Given the description of an element on the screen output the (x, y) to click on. 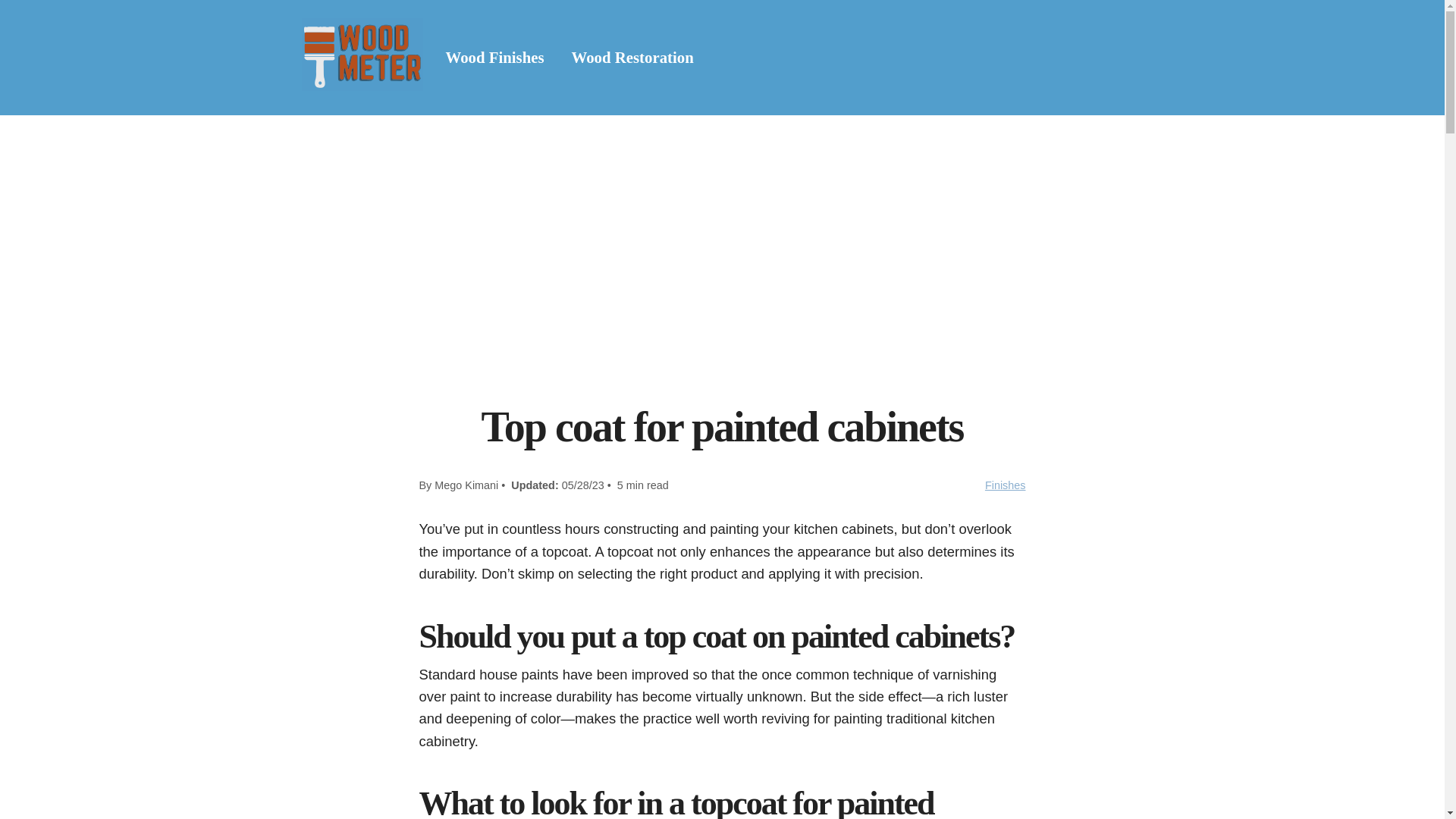
Wood Finishes (494, 57)
Finishes (1005, 485)
Wood Restoration (633, 57)
